Given the description of an element on the screen output the (x, y) to click on. 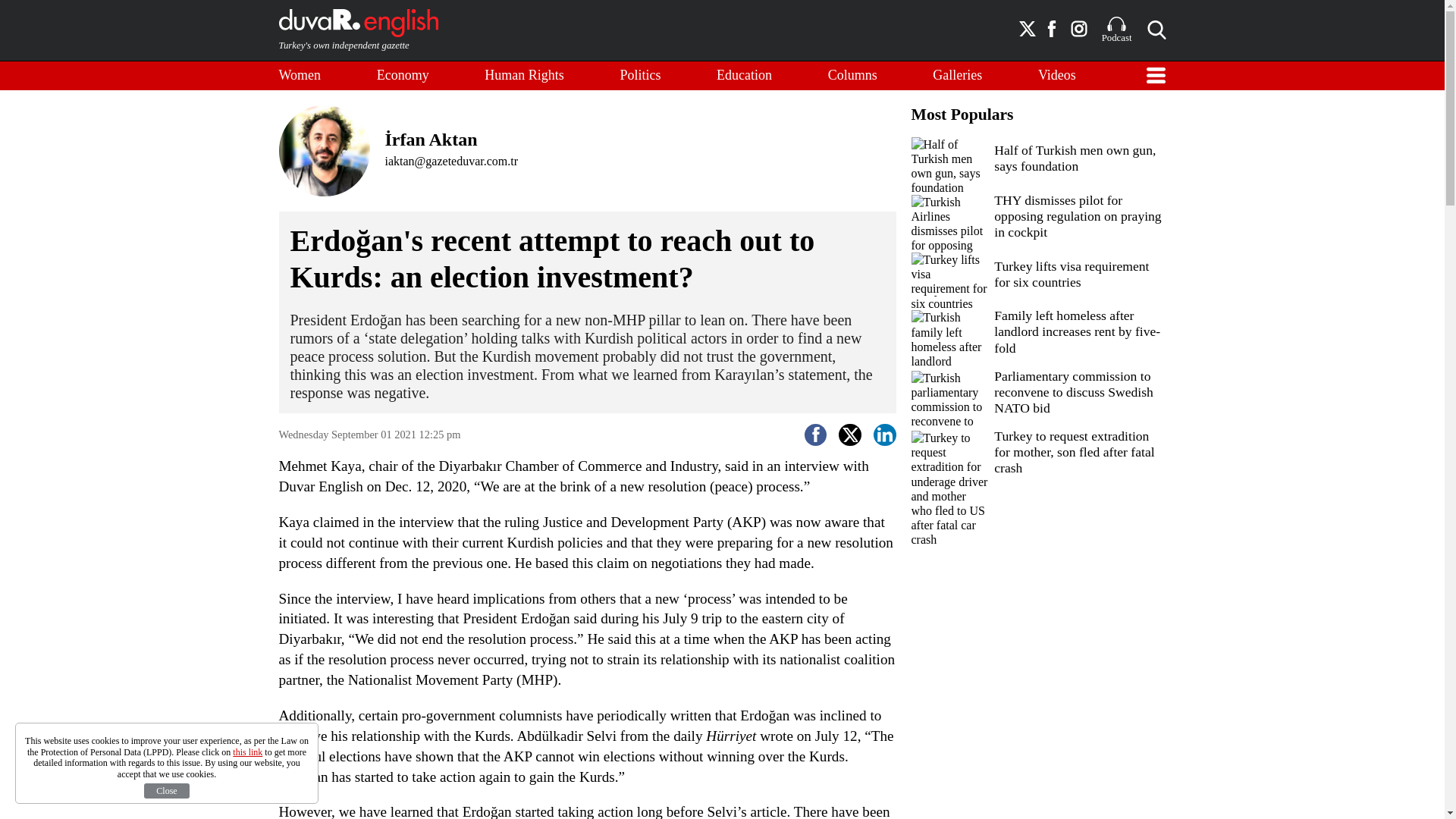
Economy (403, 75)
Podcast (1117, 30)
Turkey's own independent gazette (358, 30)
Women (300, 75)
Human Rights (524, 75)
